Given the description of an element on the screen output the (x, y) to click on. 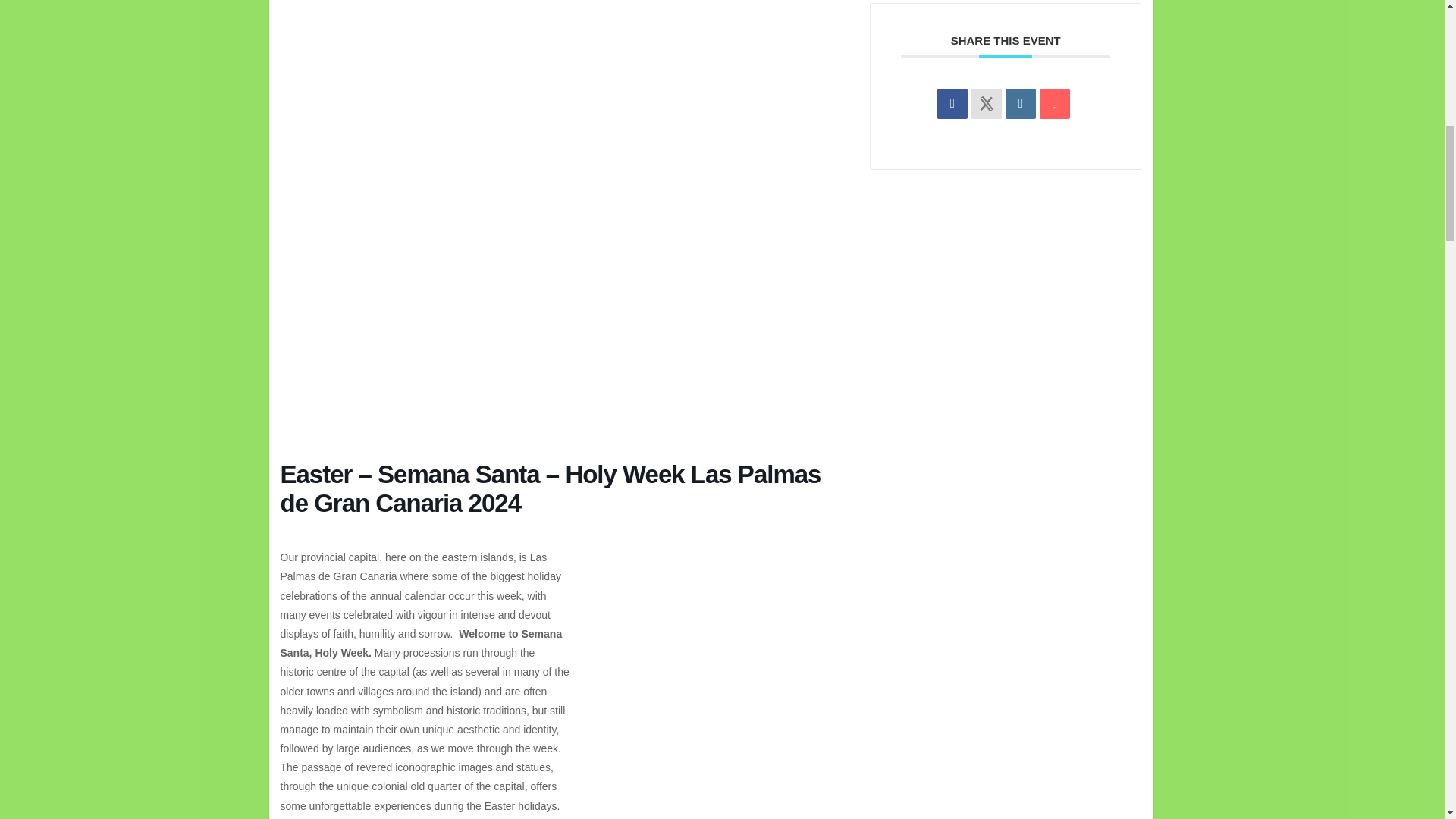
X Social Network (986, 103)
Email (1054, 103)
Linkedin (1020, 103)
Share on Facebook (952, 103)
